Given the description of an element on the screen output the (x, y) to click on. 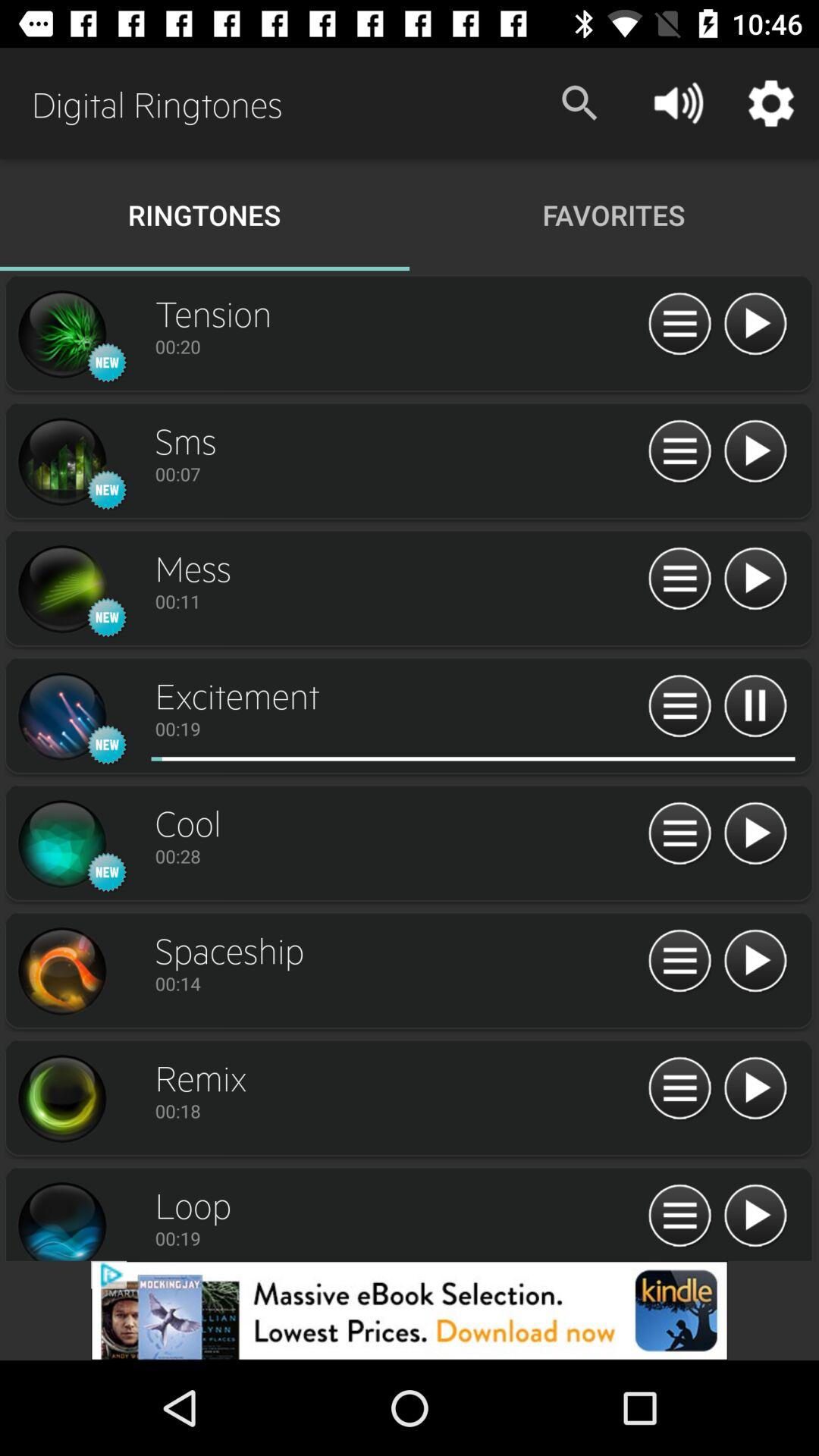
menu option (679, 961)
